Given the description of an element on the screen output the (x, y) to click on. 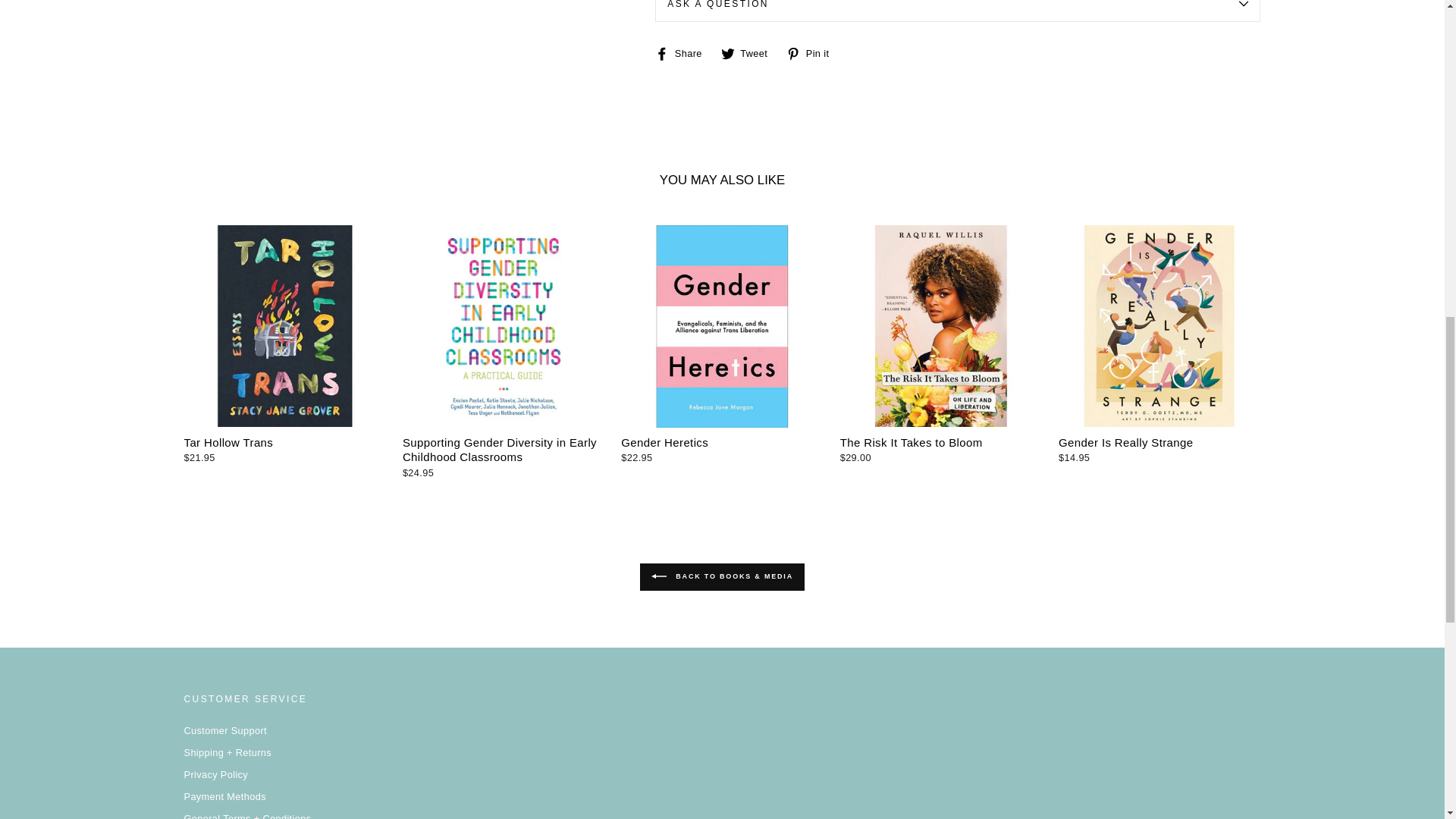
Share on Facebook (684, 52)
Pin on Pinterest (813, 52)
Tweet on Twitter (749, 52)
